Given the description of an element on the screen output the (x, y) to click on. 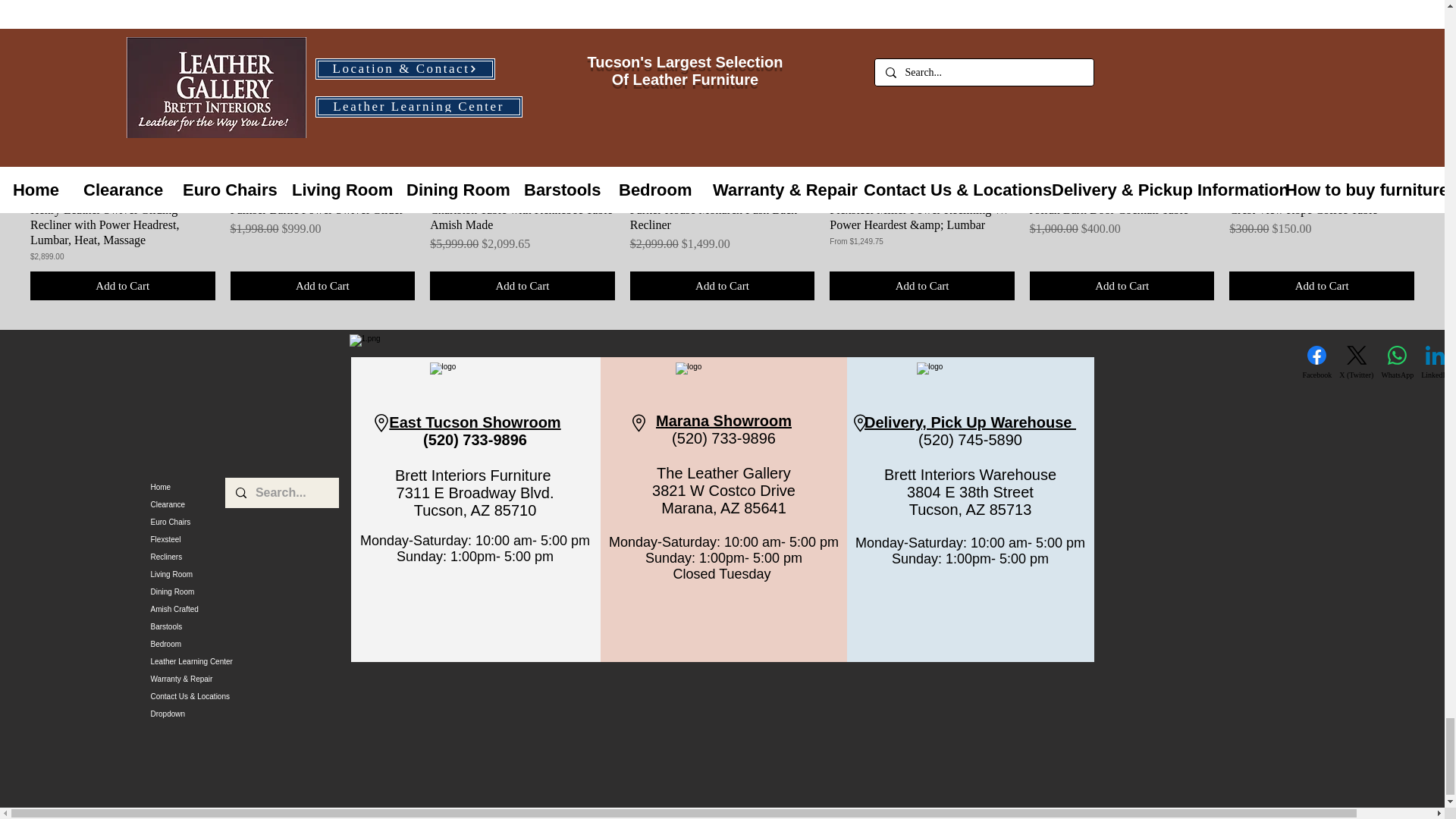
Google Maps (208, 405)
Add to Cart (122, 286)
Add to Cart (322, 286)
